Given the description of an element on the screen output the (x, y) to click on. 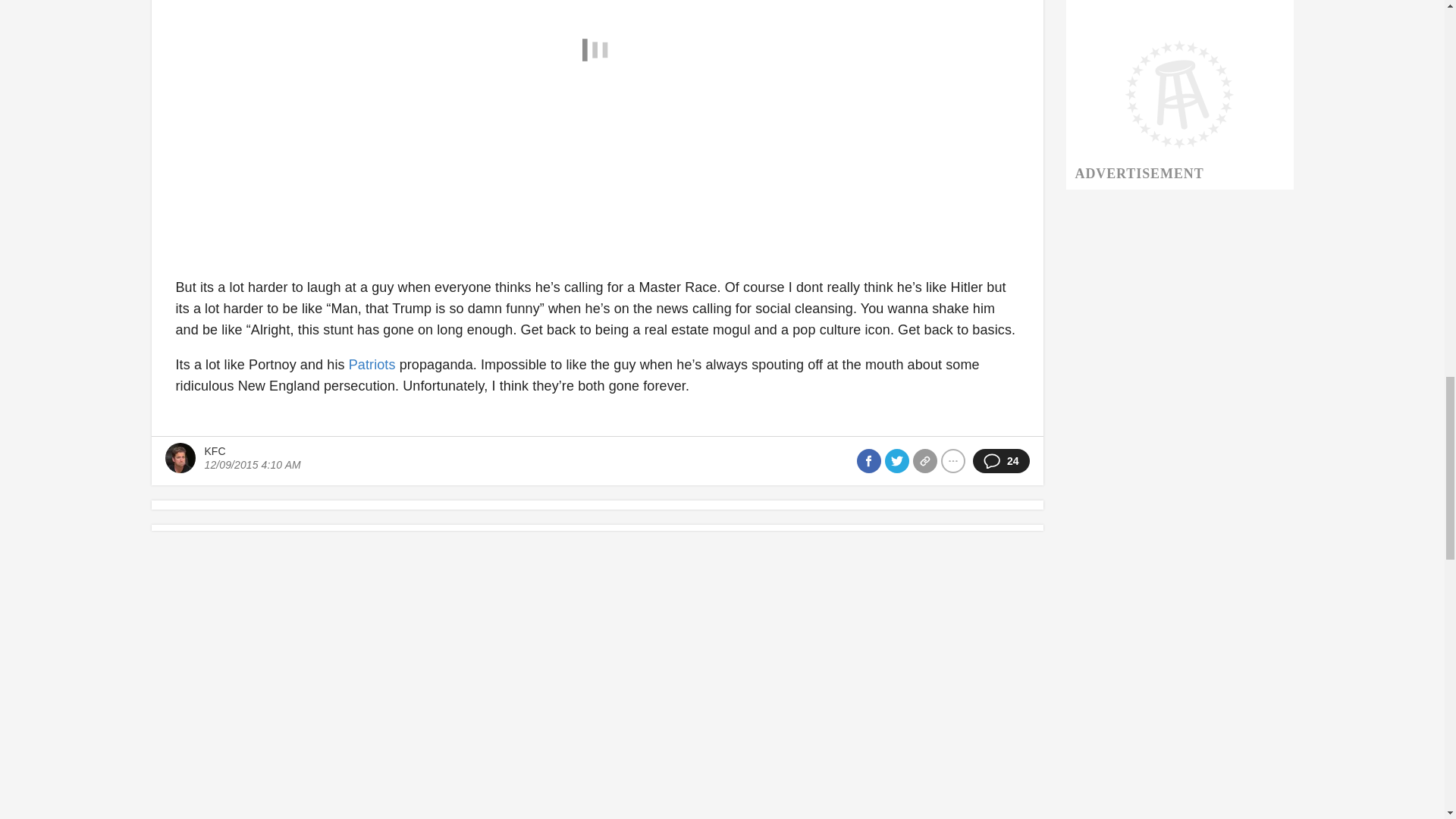
Patriots (372, 364)
